Given the description of an element on the screen output the (x, y) to click on. 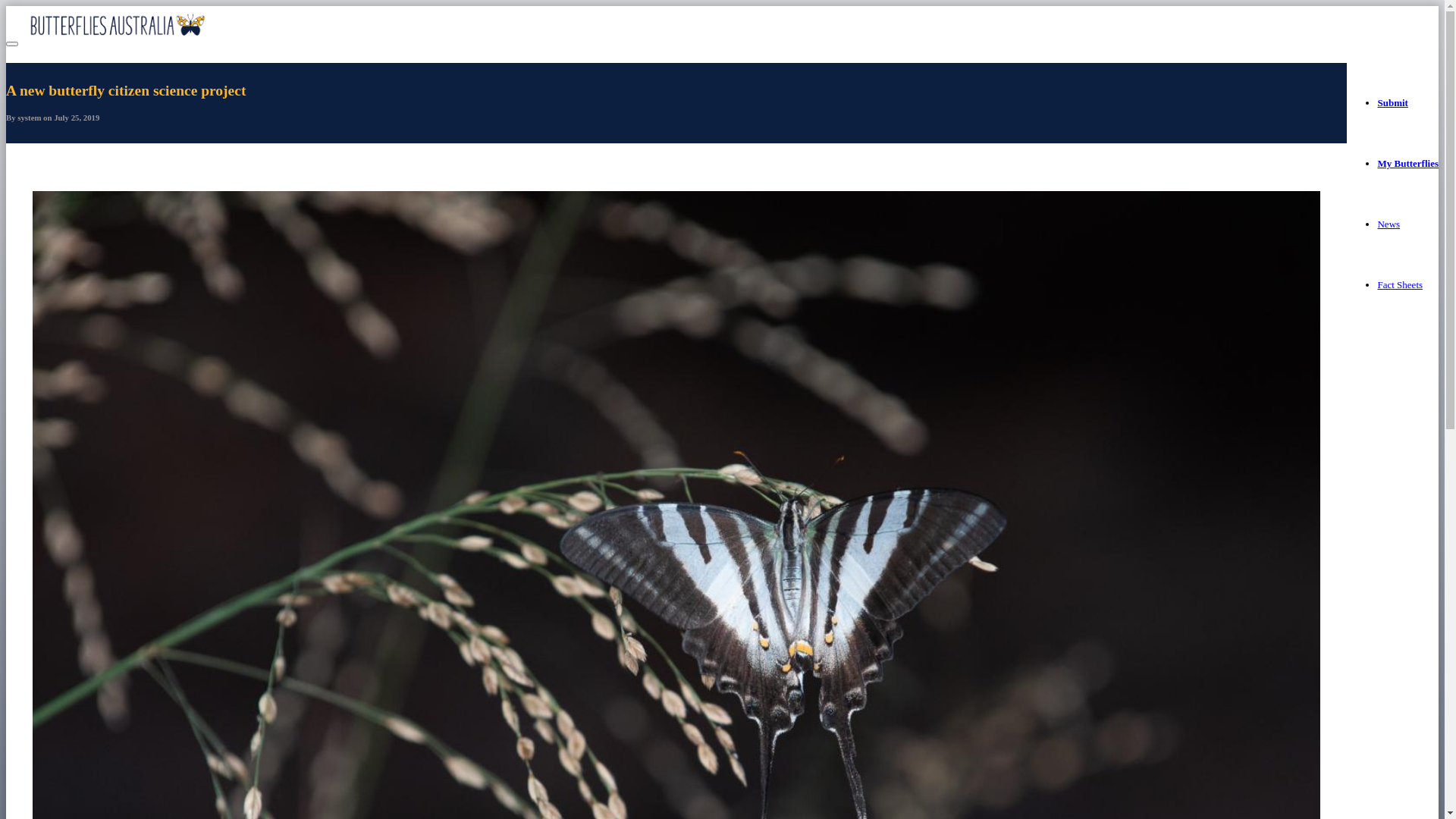
Fact Sheets Element type: text (1399, 284)
My Butterflies Element type: text (1407, 163)
News Element type: text (1388, 223)
Toggle navigation Element type: text (12, 43)
Submit Element type: text (1392, 102)
